Given the description of an element on the screen output the (x, y) to click on. 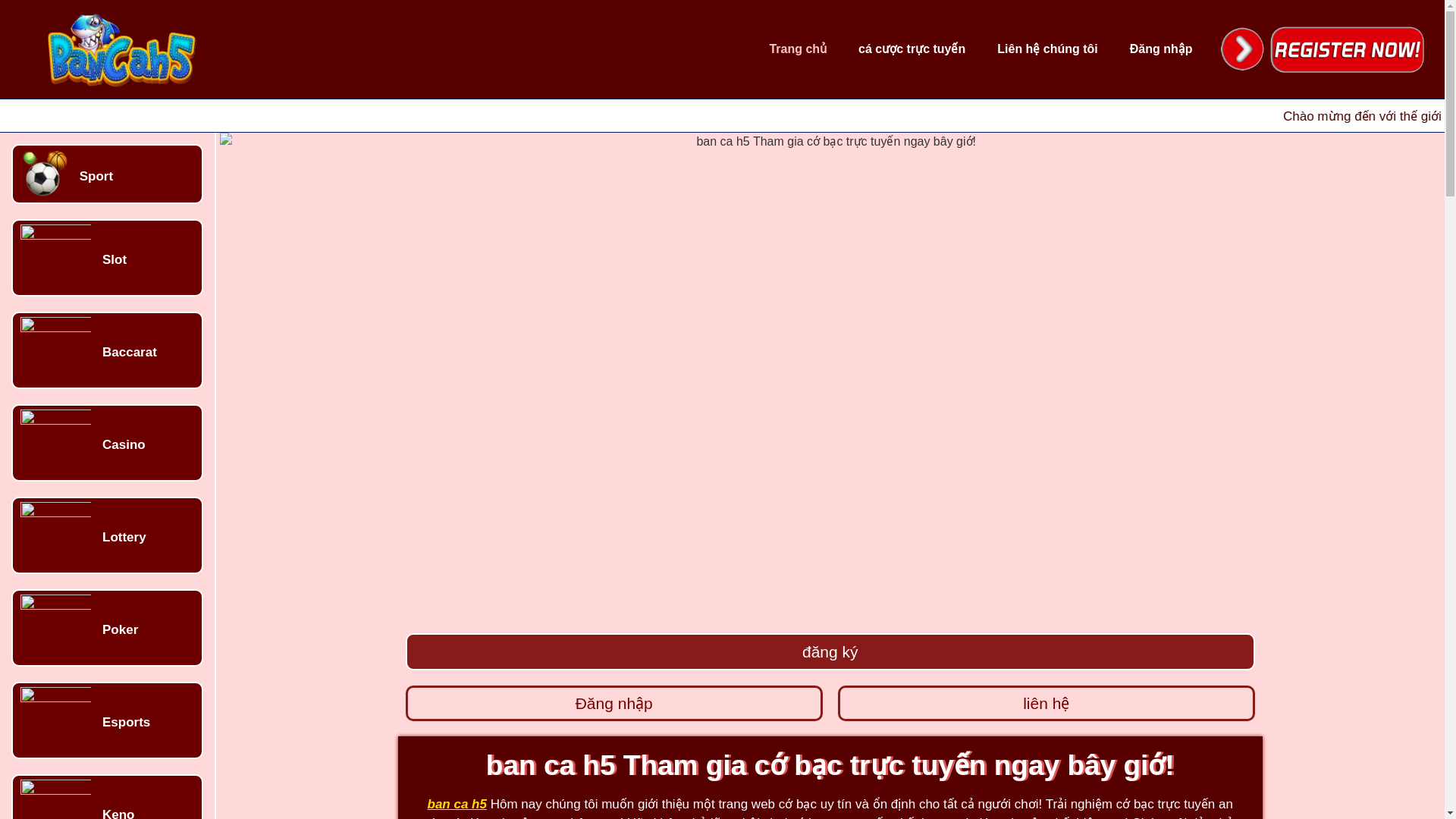
Casino (123, 444)
Poker (119, 629)
Keno (118, 813)
ban ca h5 (457, 803)
Esports (125, 721)
Slot (113, 259)
Sport (96, 175)
Lottery (124, 536)
Baccarat (129, 351)
